Given the description of an element on the screen output the (x, y) to click on. 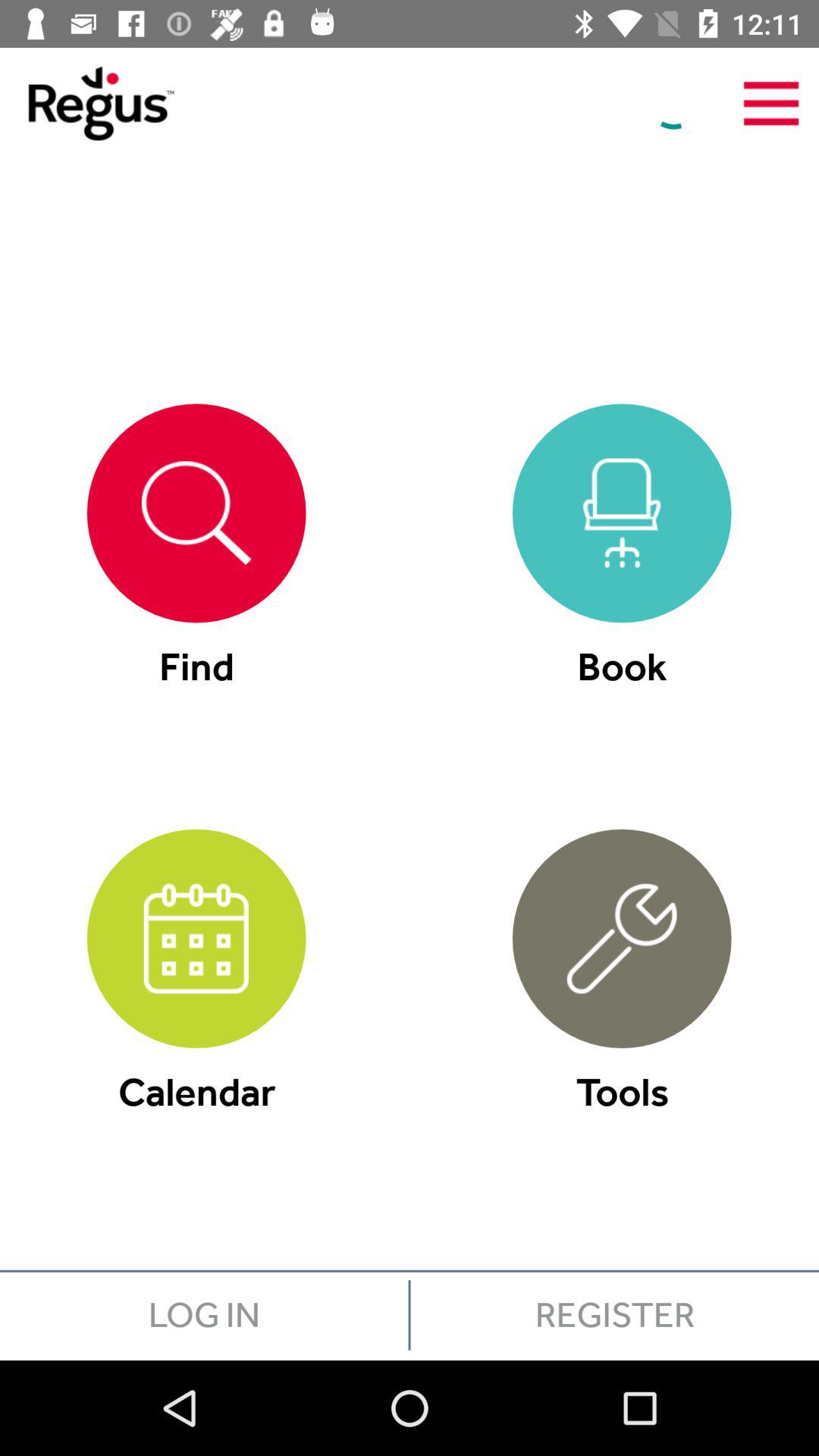
scroll to the register (614, 1314)
